Given the description of an element on the screen output the (x, y) to click on. 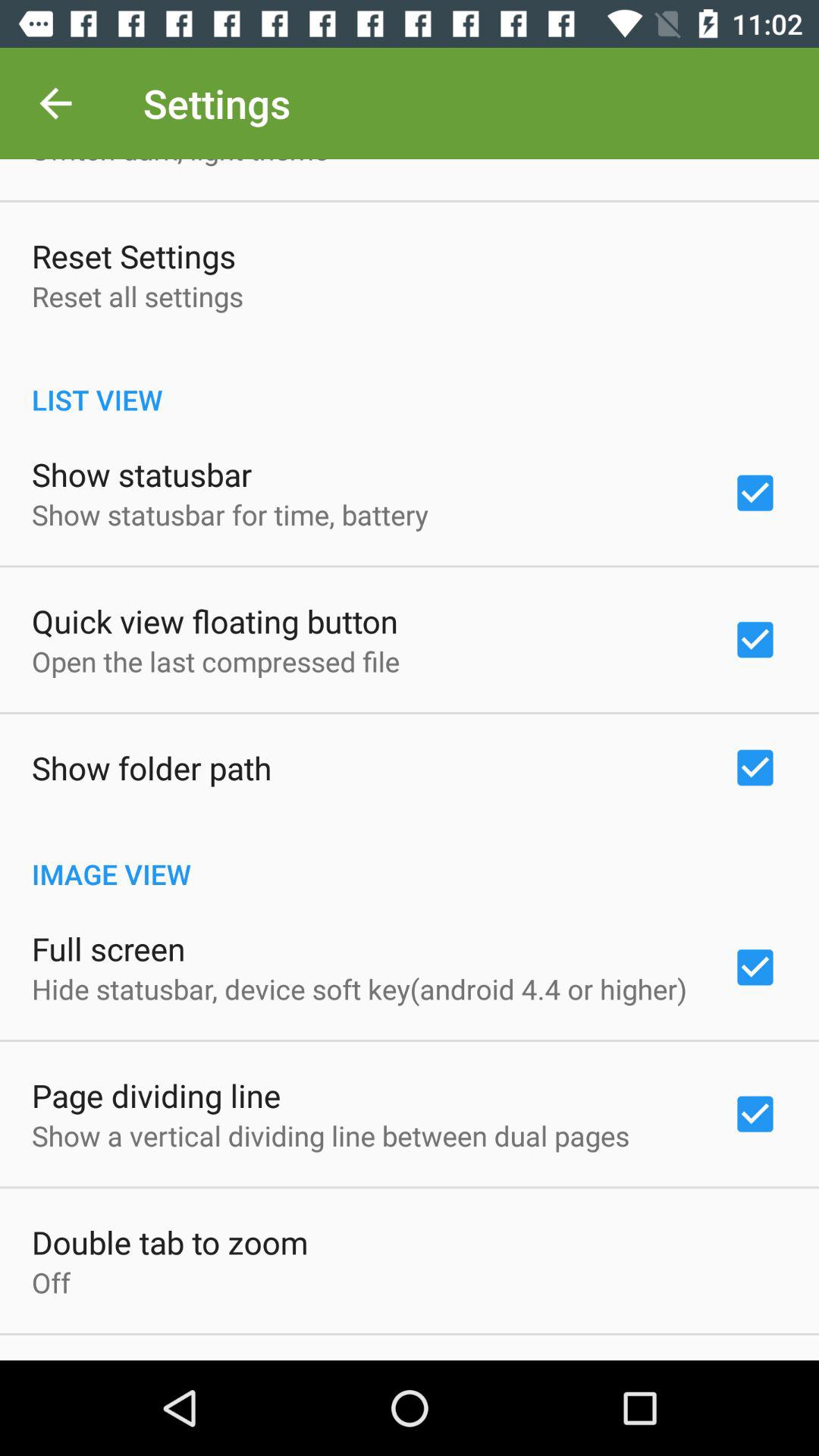
launch show a vertical item (330, 1135)
